Given the description of an element on the screen output the (x, y) to click on. 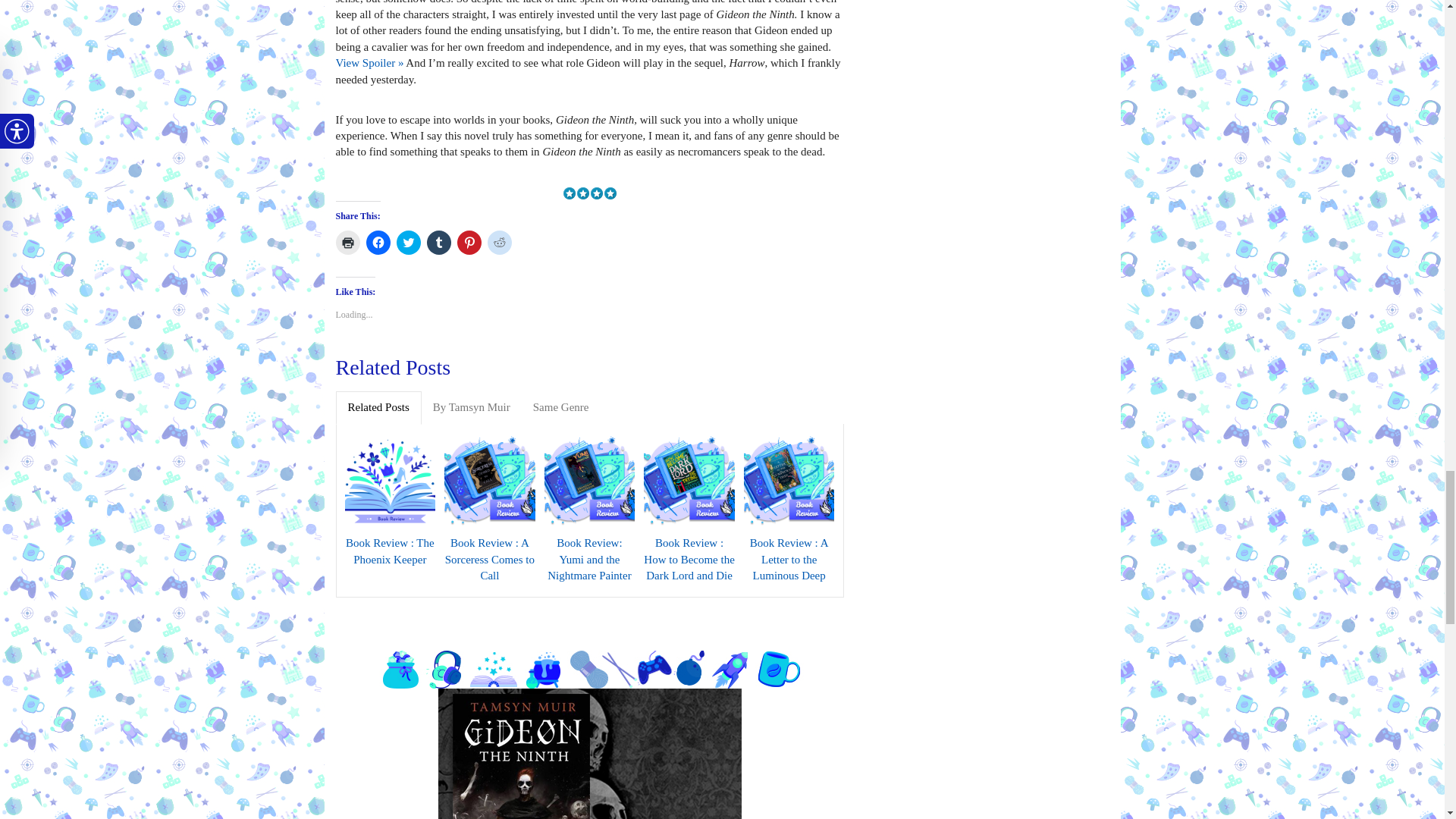
Related Posts (378, 407)
By Tamsyn Muir (471, 407)
Click to share on Pinterest (468, 242)
Click to share on Reddit (498, 242)
Same Genre (560, 407)
Click to share on Twitter (408, 242)
Click to share on Tumblr (437, 242)
Book Review : The Phoenix Keeper (389, 551)
Click to print (346, 242)
Book Review : A Sorceress Comes to Call (489, 559)
Click to share on Facebook (377, 242)
